Given the description of an element on the screen output the (x, y) to click on. 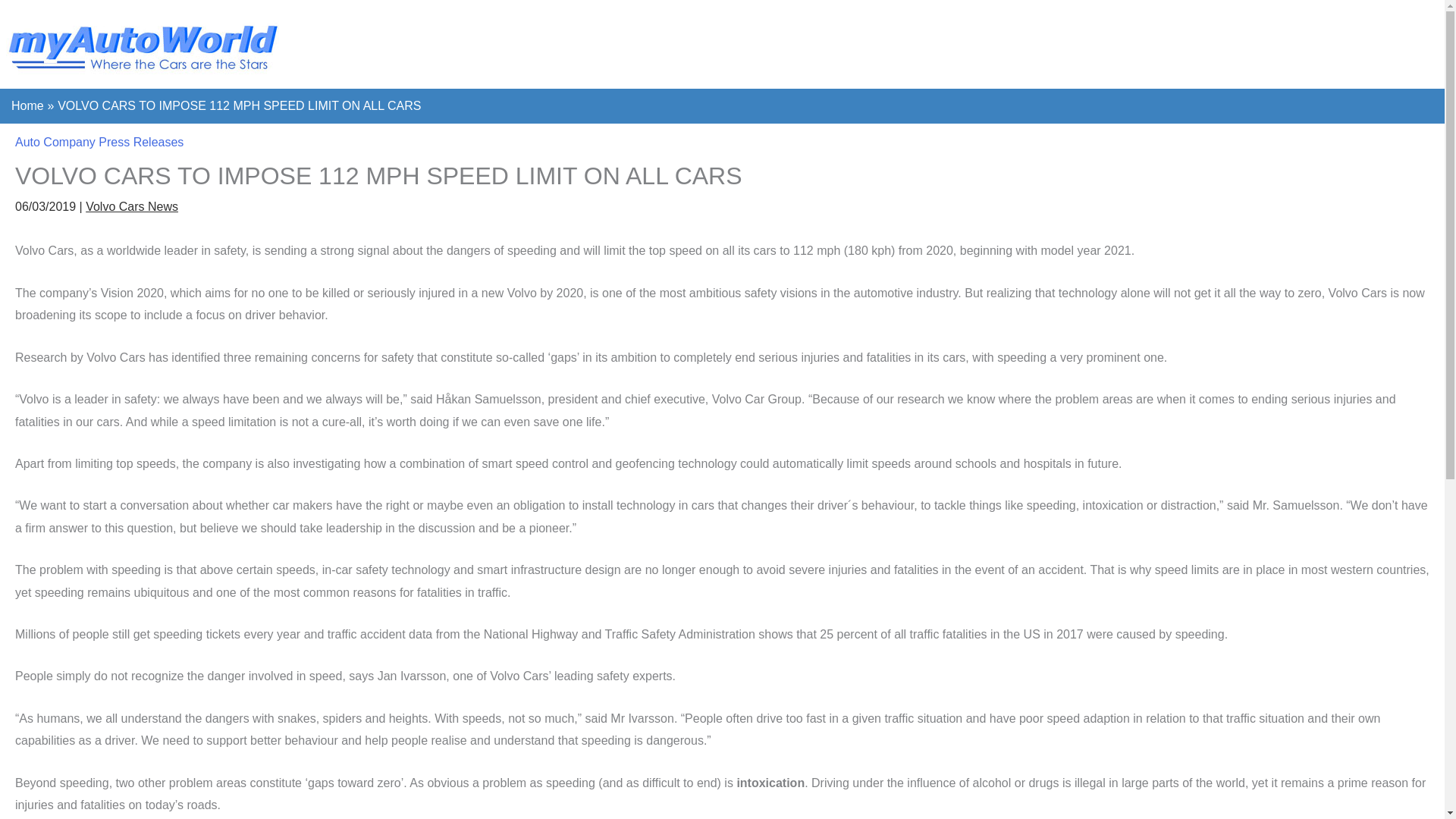
Auto Company Press Releases (98, 141)
Home (27, 105)
Volvo Cars News (131, 205)
